Given the description of an element on the screen output the (x, y) to click on. 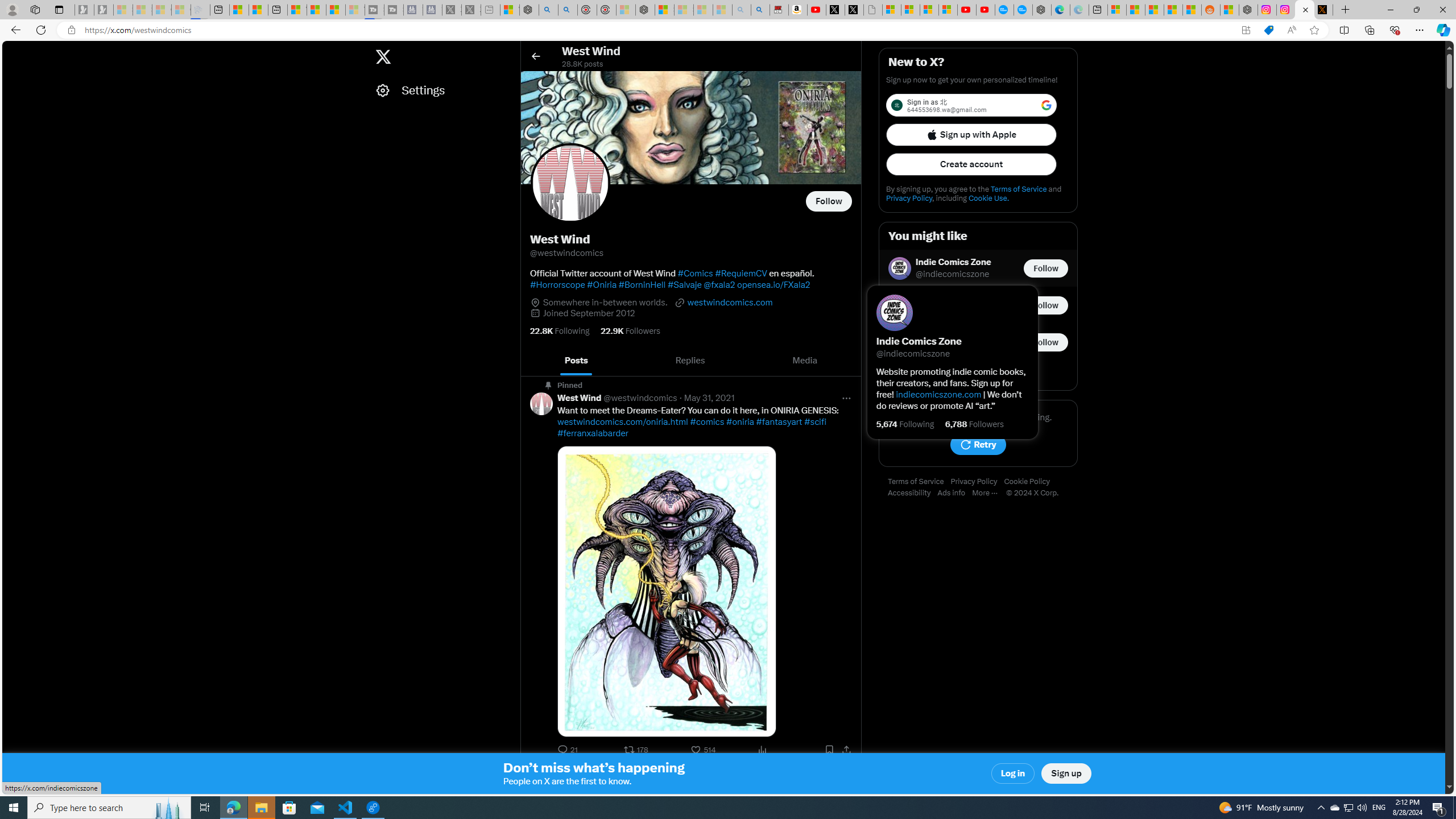
App available. Install X (1245, 29)
#scifi (815, 421)
Image (666, 591)
Nordace - Nordace Siena Is Not An Ordinary Backpack (644, 9)
22.8K Following (559, 331)
Sign up (1066, 773)
Retry (978, 444)
@fxala2 (719, 284)
Opens profile photo (570, 182)
Cookie Use. (988, 198)
